Given the description of an element on the screen output the (x, y) to click on. 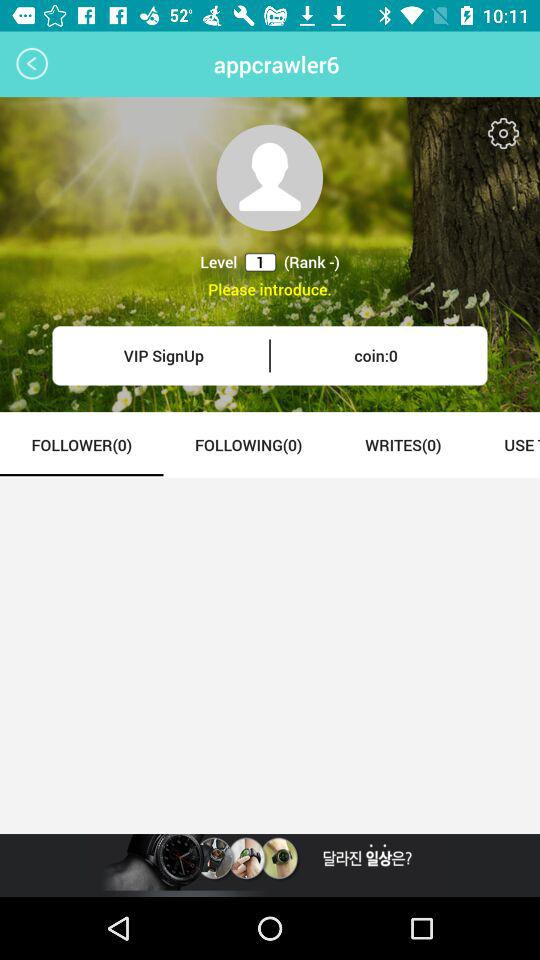
turn on app below the vip signup (81, 444)
